Given the description of an element on the screen output the (x, y) to click on. 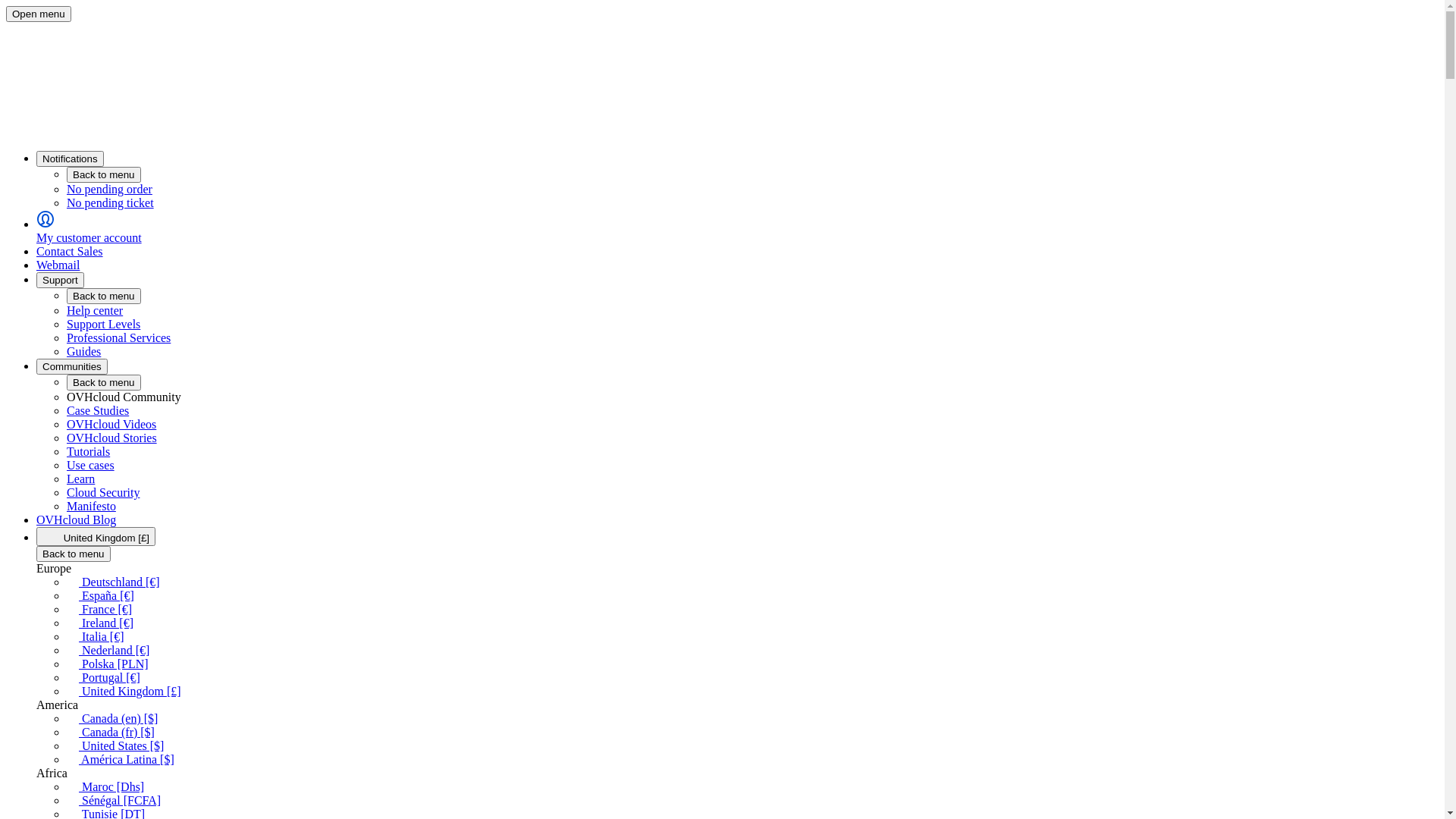
United States [$] Element type: text (114, 745)
Use cases Element type: text (90, 464)
Support Levels Element type: text (103, 323)
Support Element type: text (60, 280)
Learn Element type: text (80, 478)
OVHcloud Videos Element type: text (111, 423)
No pending order Element type: text (752, 189)
Help center Element type: text (94, 310)
Manifesto Element type: text (91, 505)
Back to menu Element type: text (103, 382)
Polska [PLN] Element type: text (107, 663)
Notifications Element type: text (69, 158)
Webmail Element type: text (57, 264)
Maroc [Dhs] Element type: text (105, 786)
Canada (en) [$] Element type: text (111, 718)
Case Studies Element type: text (97, 410)
My customer account Element type: text (737, 227)
Communities Element type: text (71, 366)
Back to menu Element type: text (103, 174)
Professional Services Element type: text (118, 337)
Cloud Security Element type: text (102, 492)
Contact Sales Element type: text (69, 250)
Back to menu Element type: text (73, 553)
Back to menu Element type: text (103, 296)
Tutorials Element type: text (87, 451)
Canada (fr) [$] Element type: text (110, 731)
No pending ticket Element type: text (752, 203)
OVHcloud Stories Element type: text (111, 437)
OVHcloud Blog Element type: text (76, 519)
Guides Element type: text (83, 351)
Open menu Element type: text (38, 13)
